Given the description of an element on the screen output the (x, y) to click on. 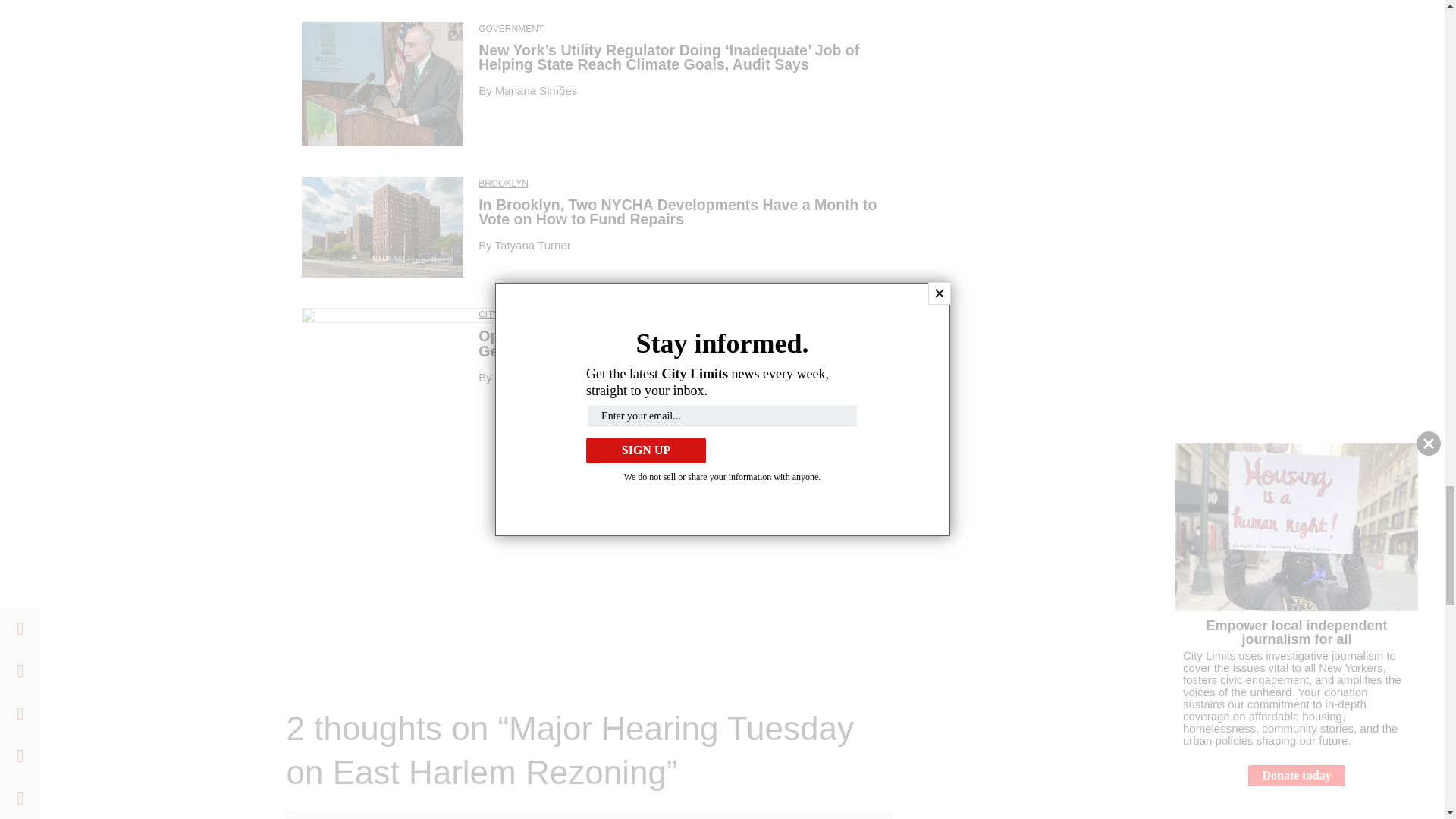
Read All Posts By Will Spisak (522, 377)
Read Articles in the Brooklyn category (503, 183)
Read Articles in the Government category (511, 28)
Read All Posts By Rev. Carl Adair (614, 377)
Read All Posts By Tatyana Turner (532, 245)
